Given the description of an element on the screen output the (x, y) to click on. 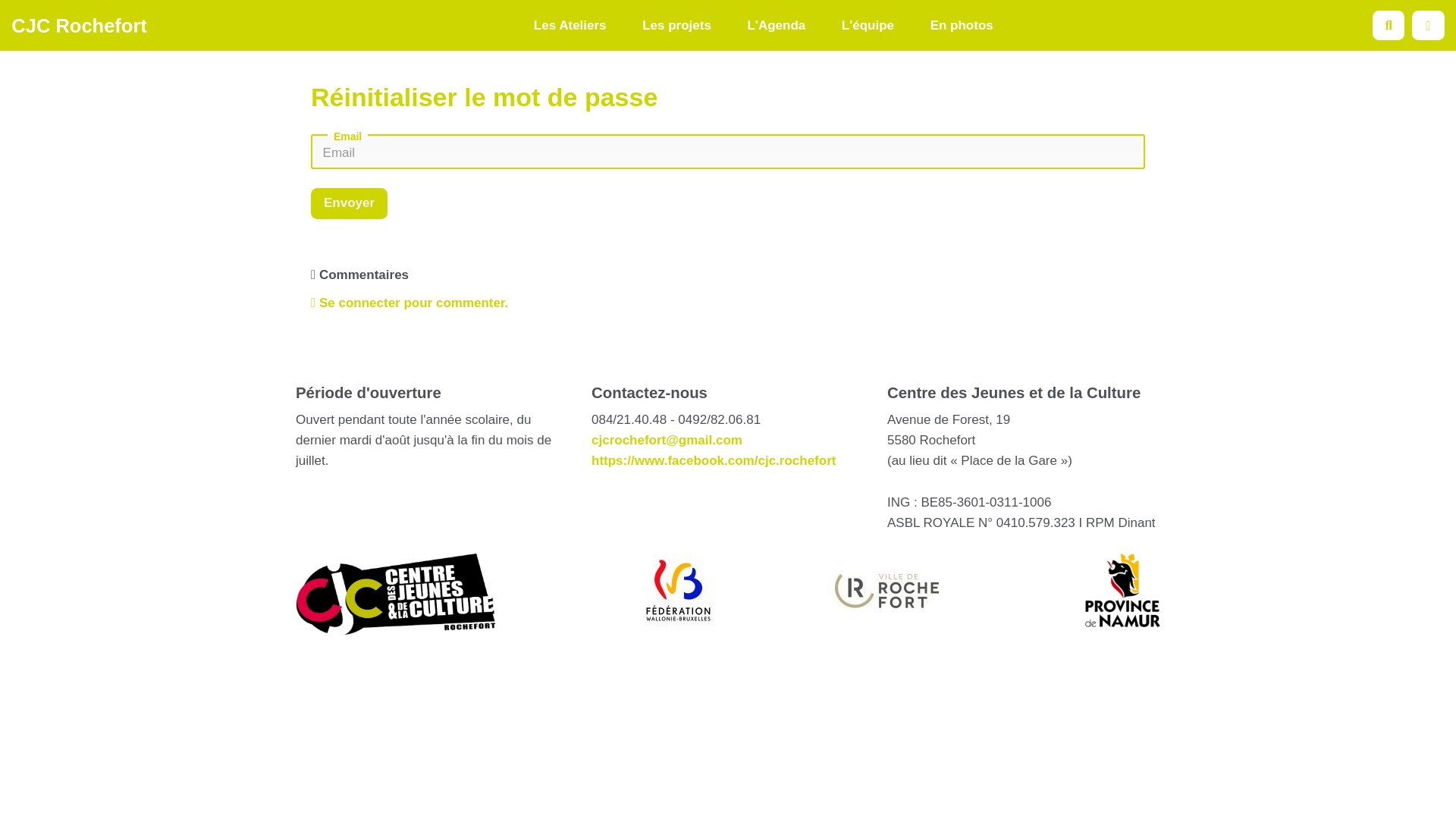
Se connecter pour commenter. Element type: text (409, 302)
cjcrochefort@gmail.com Element type: text (666, 440)
L'Agenda Element type: text (776, 25)
https://www.facebook.com/cjc.rochefort Element type: text (713, 460)
Les Ateliers Element type: text (569, 25)
Les projets Element type: text (676, 25)
CJC Rochefort Element type: text (79, 24)
Envoyer Element type: text (348, 203)
En photos Element type: text (961, 25)
Rechercher Element type: text (1388, 25)
